Given the description of an element on the screen output the (x, y) to click on. 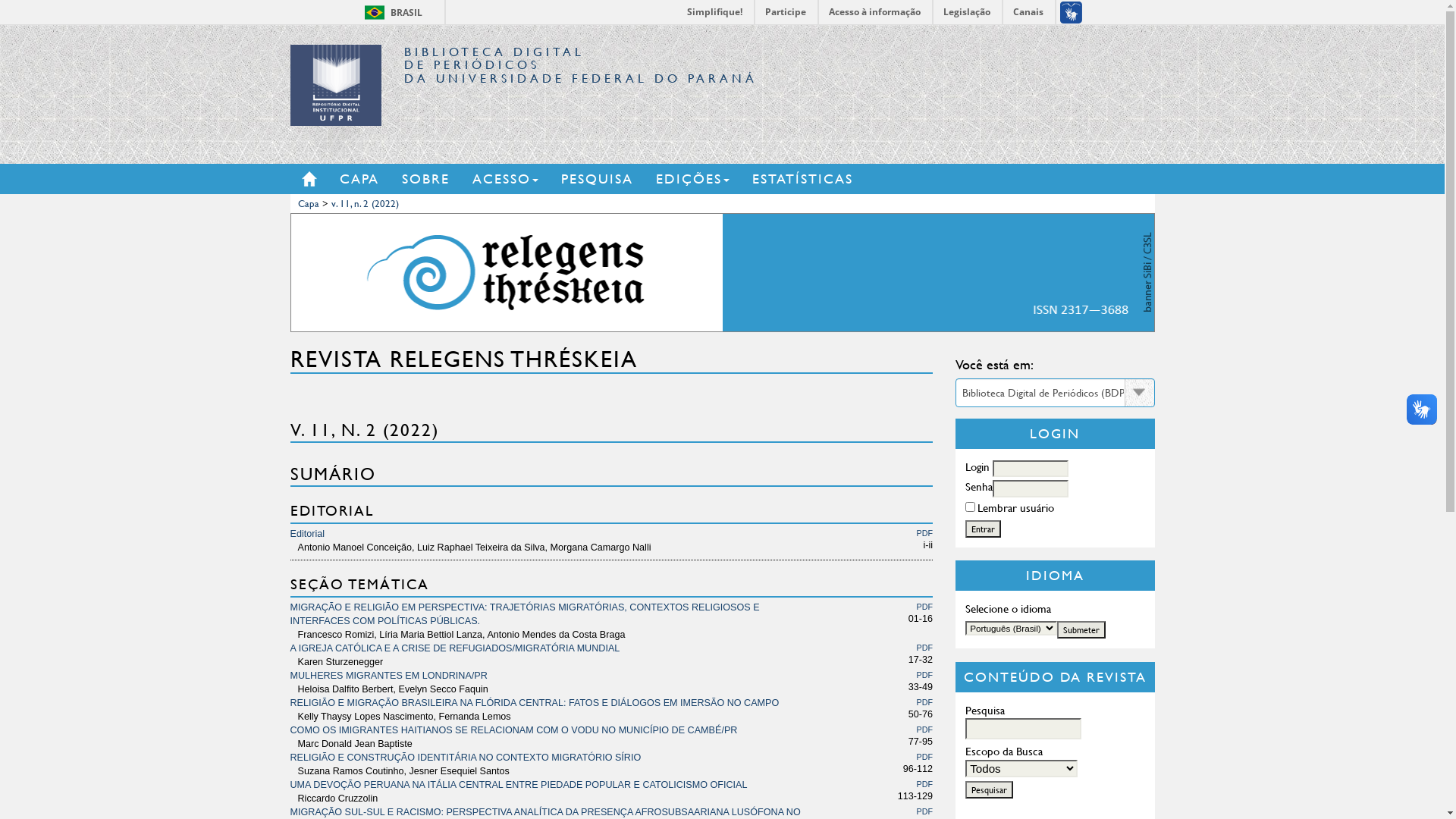
Pesquisar Element type: text (989, 789)
PDF Element type: text (924, 783)
ACESSO Element type: text (515, 178)
BRASIL Element type: text (373, 12)
PESQUISA Element type: text (608, 178)
PDF Element type: text (924, 647)
PDF Element type: text (924, 756)
Entrar Element type: text (983, 528)
PDF Element type: text (924, 532)
SOBRE Element type: text (436, 178)
Capa Element type: text (307, 203)
Submeter Element type: text (1081, 629)
PDF Element type: text (924, 729)
PDF Element type: text (924, 606)
PDF Element type: text (924, 674)
PDF Element type: text (924, 701)
PDF Element type: text (924, 810)
CAPA Element type: text (370, 178)
v. 11, n. 2 (2022) Element type: text (364, 203)
Editorial Element type: text (306, 533)
MULHERES MIGRANTES EM LONDRINA/PR Element type: text (387, 675)
